Given the description of an element on the screen output the (x, y) to click on. 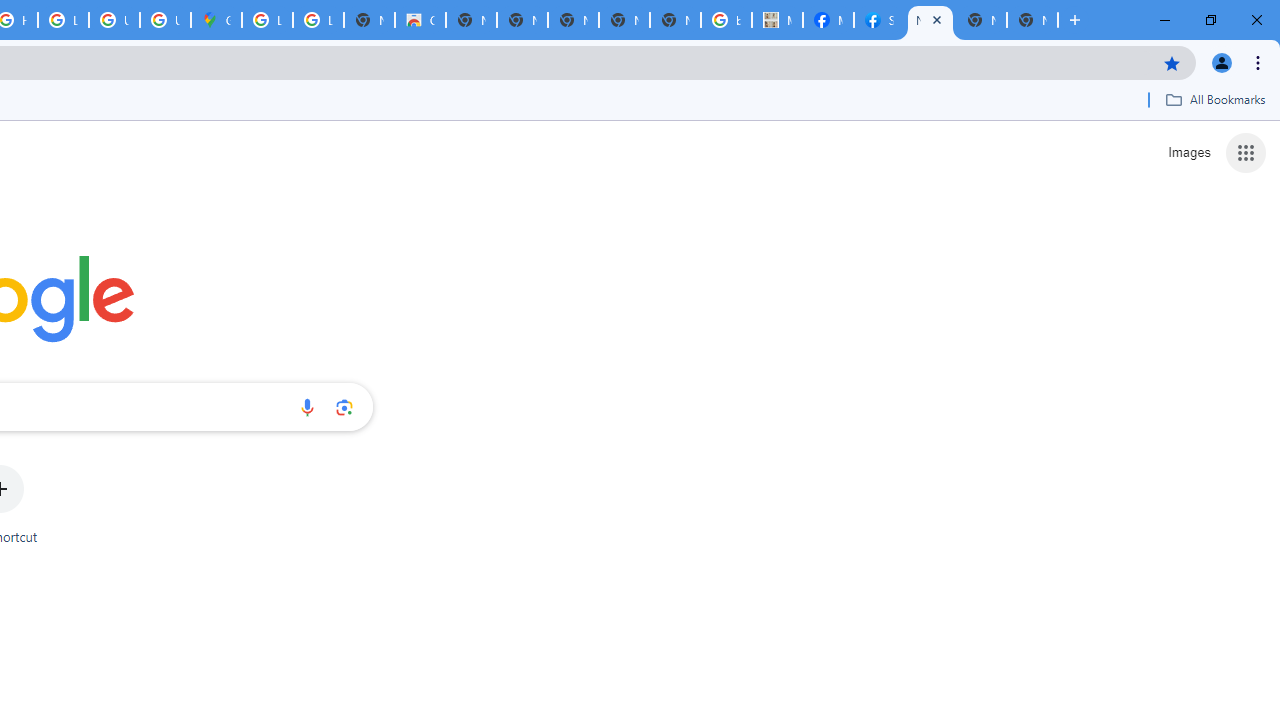
Miley Cyrus | Facebook (827, 20)
Sign Up for Facebook (878, 20)
Chrome Web Store (420, 20)
MILEY CYRUS. (776, 20)
